Given the description of an element on the screen output the (x, y) to click on. 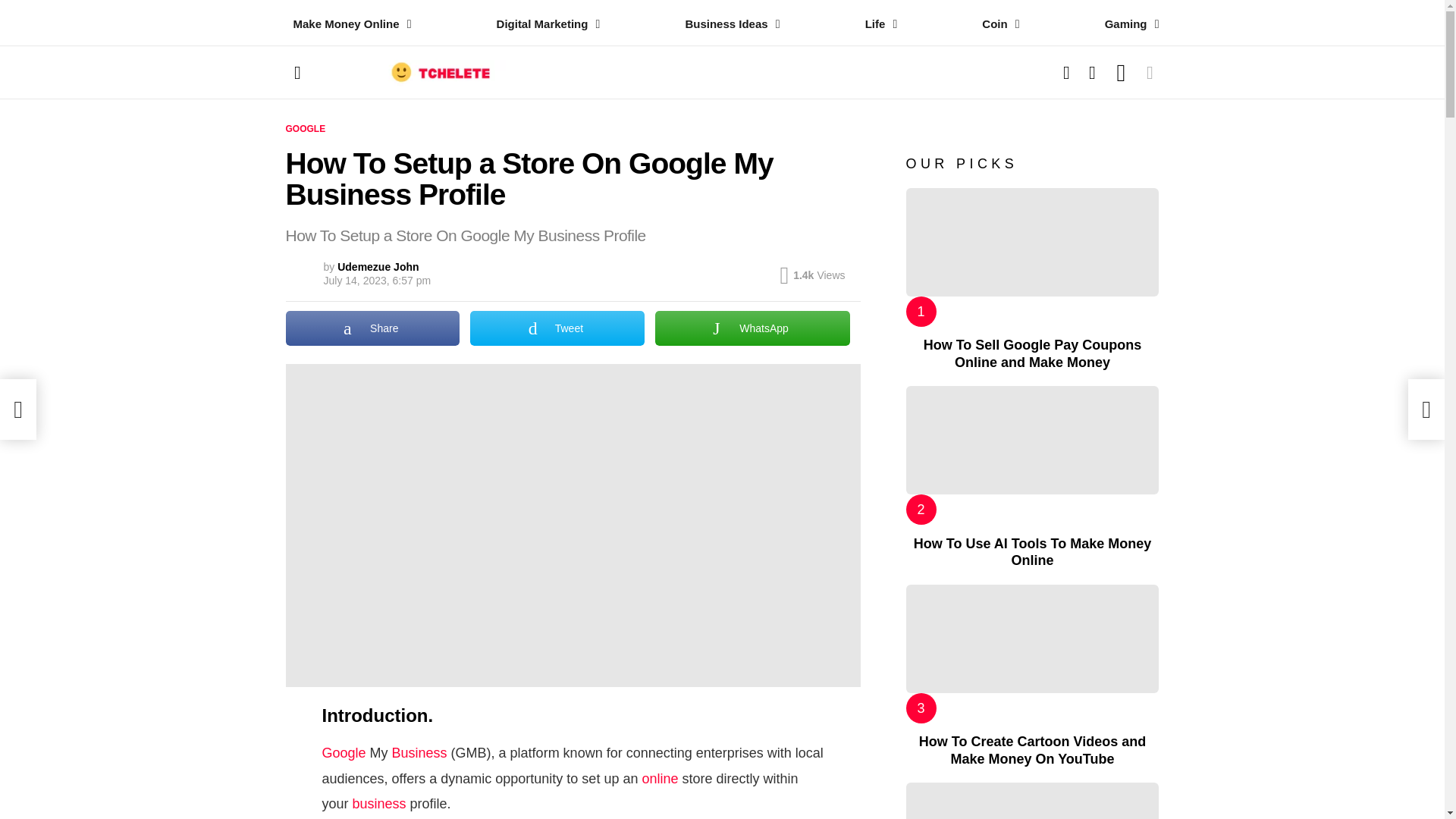
Share on Tweet (557, 328)
Digital Marketing (544, 24)
Business Ideas (727, 24)
Make Money Online (347, 24)
Life (877, 24)
Share on WhatsApp (752, 328)
Share on Share (372, 328)
Posts by Udemezue John (378, 266)
